Given the description of an element on the screen output the (x, y) to click on. 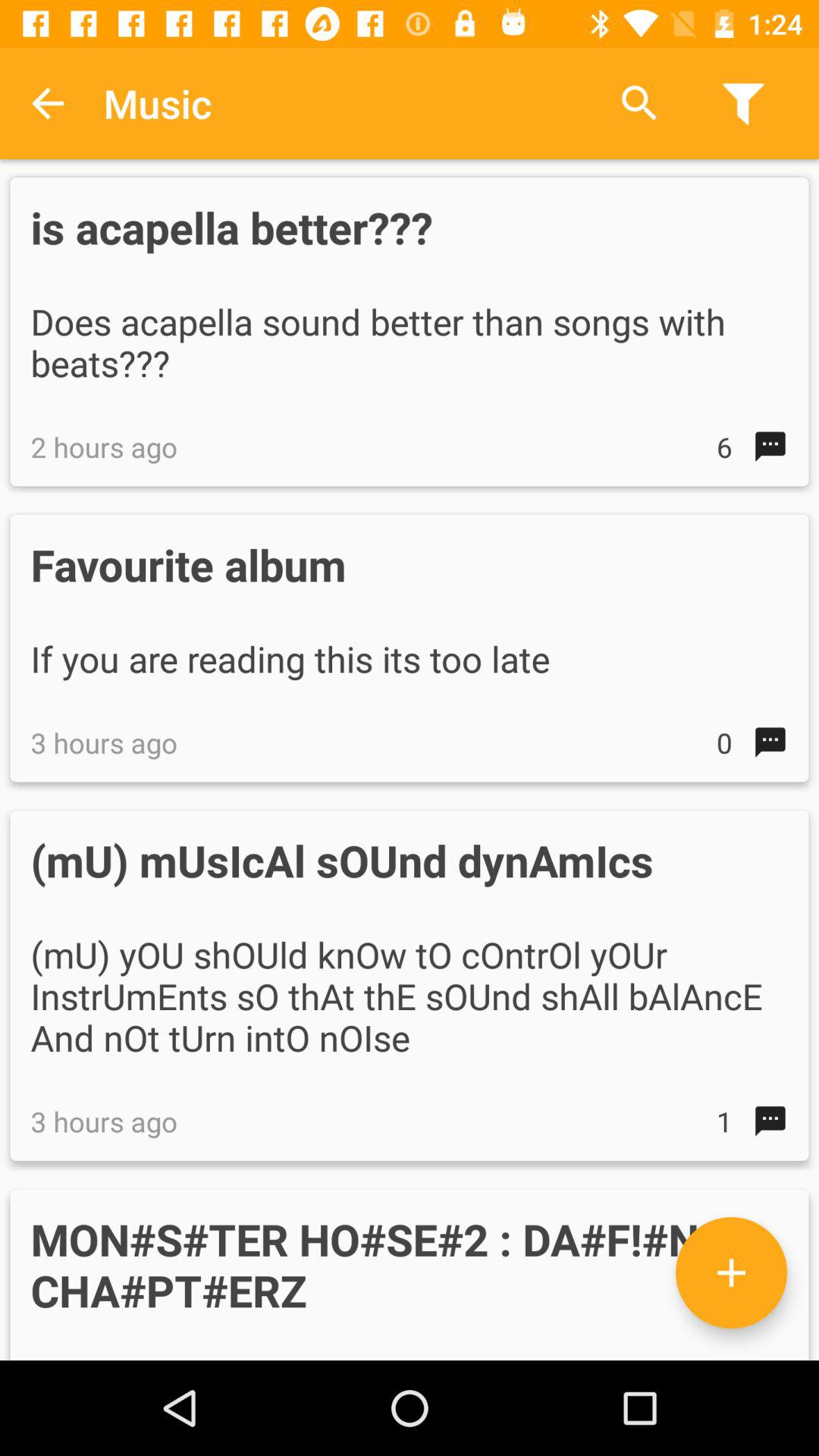
click the item next to the music (639, 103)
